Given the description of an element on the screen output the (x, y) to click on. 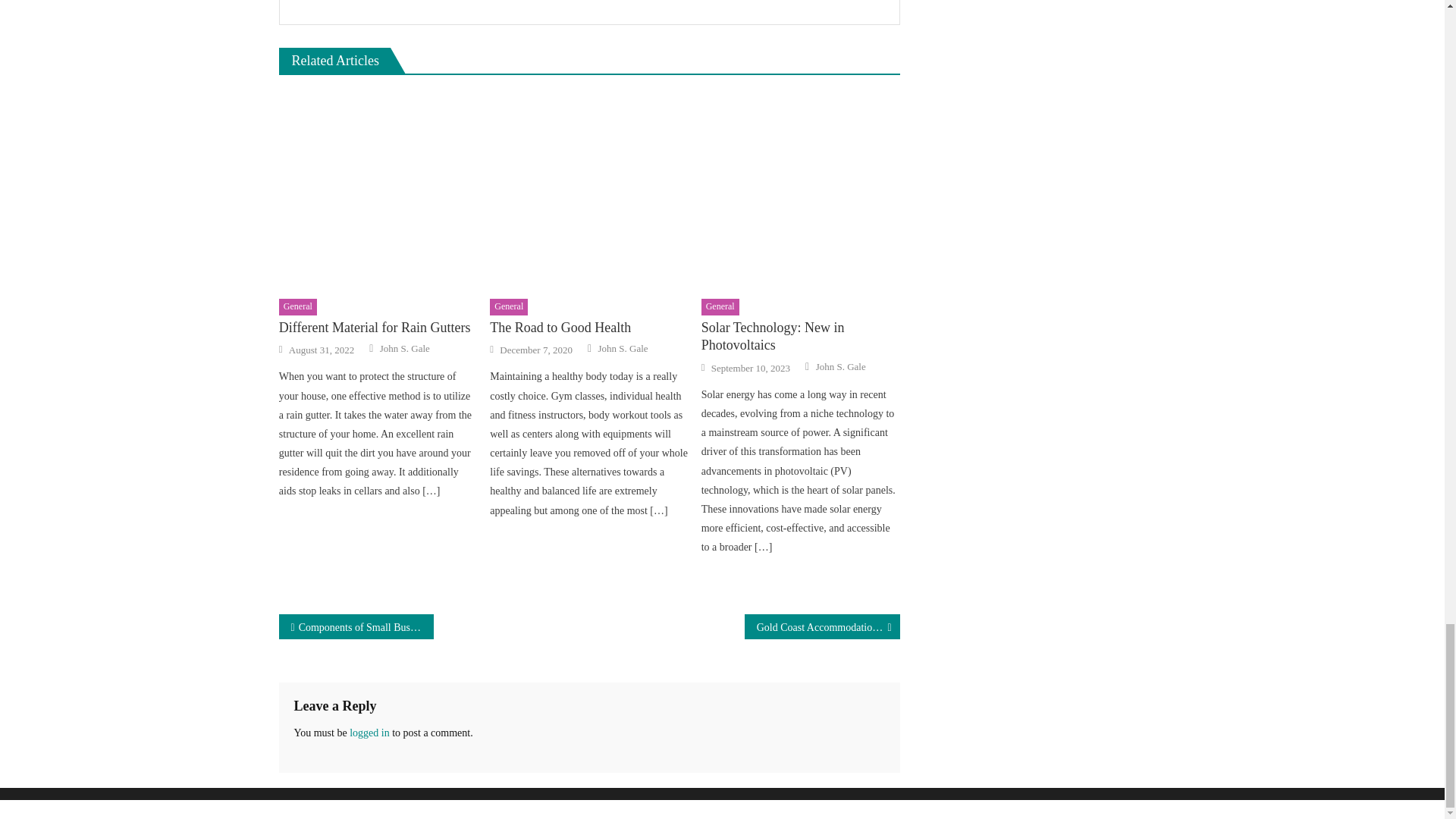
Solar Technology: New in Photovoltaics (800, 189)
The Road to Good Health (588, 189)
John S. Gale (404, 348)
Different Material for Rain Gutters (378, 189)
General (508, 306)
Different Material for Rain Gutters (378, 327)
John S. Gale (622, 348)
The Road to Good Health (588, 327)
General (298, 306)
December 7, 2020 (535, 350)
